Given the description of an element on the screen output the (x, y) to click on. 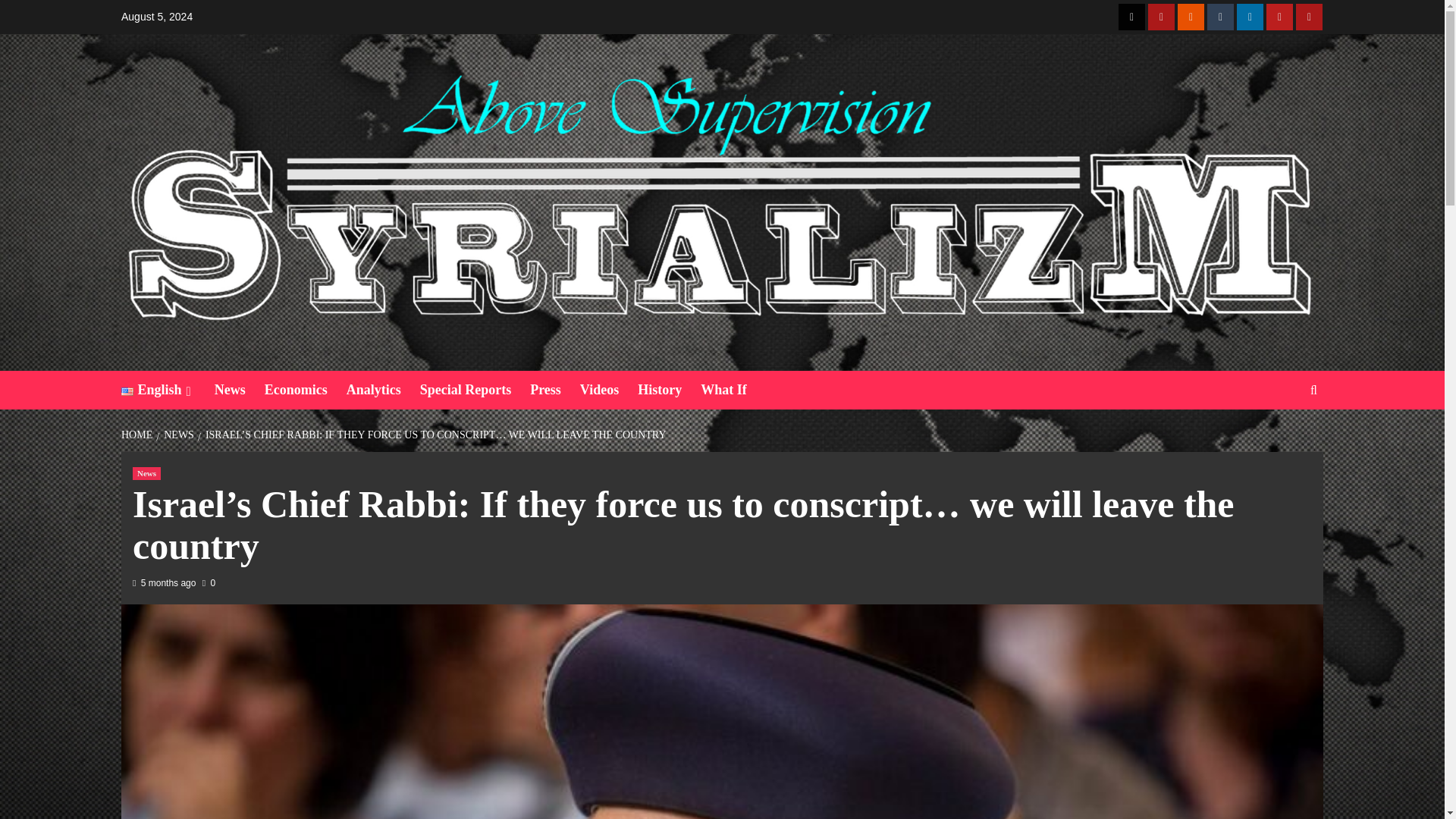
Telegram (1161, 17)
Press (554, 390)
Twitter (1131, 17)
Reddit (1190, 17)
5 months ago (168, 583)
Videos (608, 390)
Mastodon (1308, 17)
Analytics (383, 390)
Economics (305, 390)
NEWS (176, 434)
English (167, 390)
Search (1278, 437)
Linkedin (1249, 17)
HOME (137, 434)
Special Reports (475, 390)
